Given the description of an element on the screen output the (x, y) to click on. 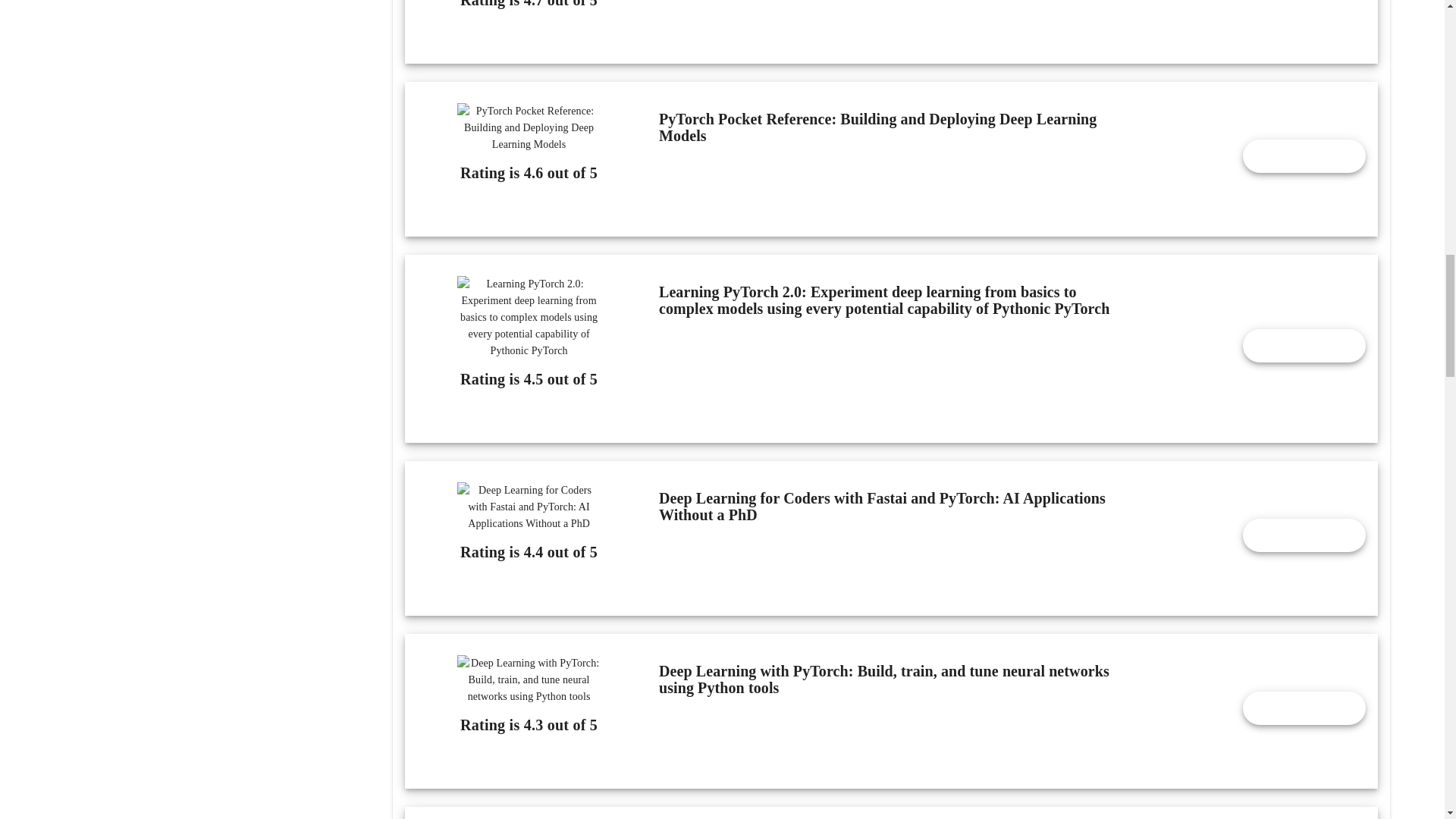
GET BOOK NOW (1304, 345)
GET BOOK NOW (1304, 155)
GET BOOK NOW (1304, 535)
GET BOOK NOW (1304, 707)
